Given the description of an element on the screen output the (x, y) to click on. 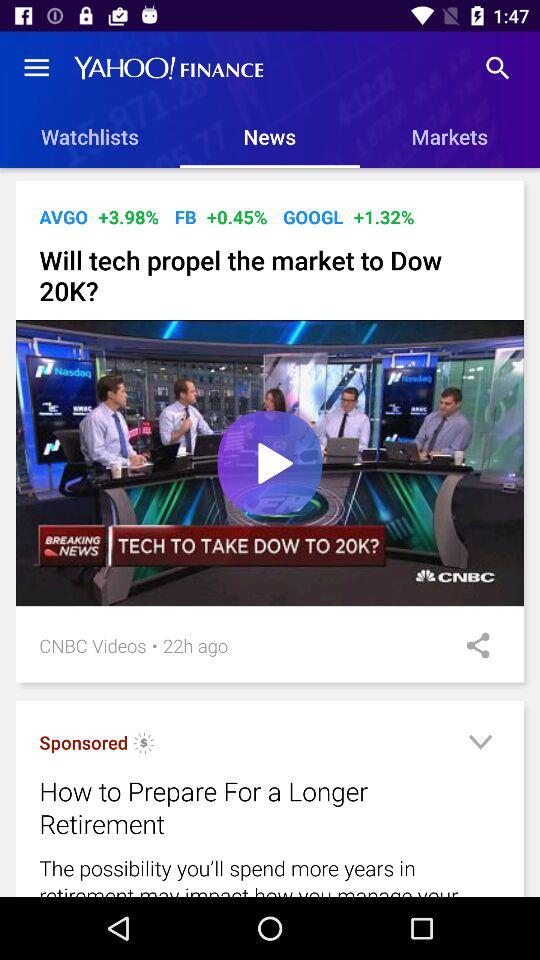
swipe to the avgo (63, 216)
